Given the description of an element on the screen output the (x, y) to click on. 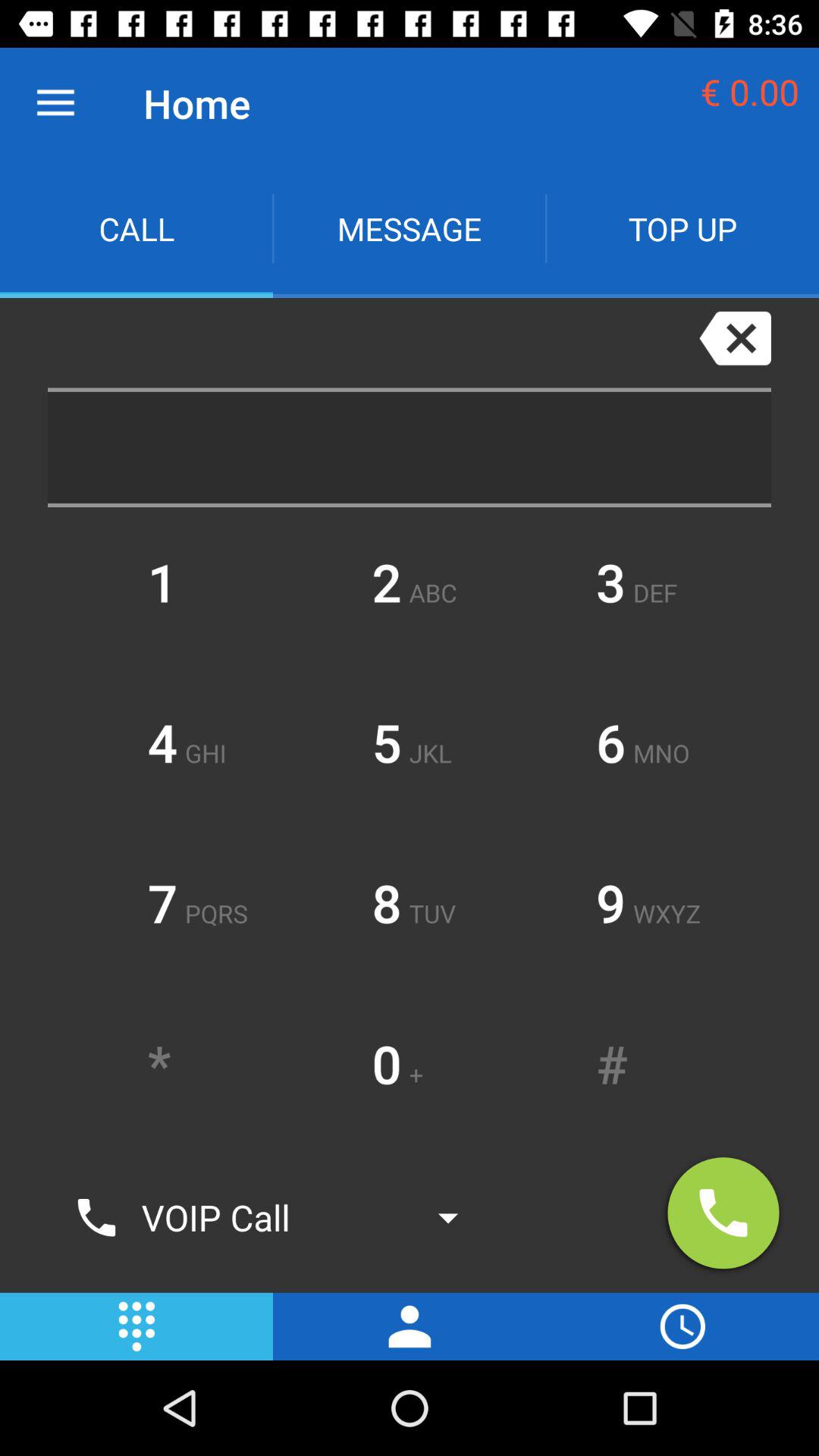
click icon next to top up (409, 228)
